Given the description of an element on the screen output the (x, y) to click on. 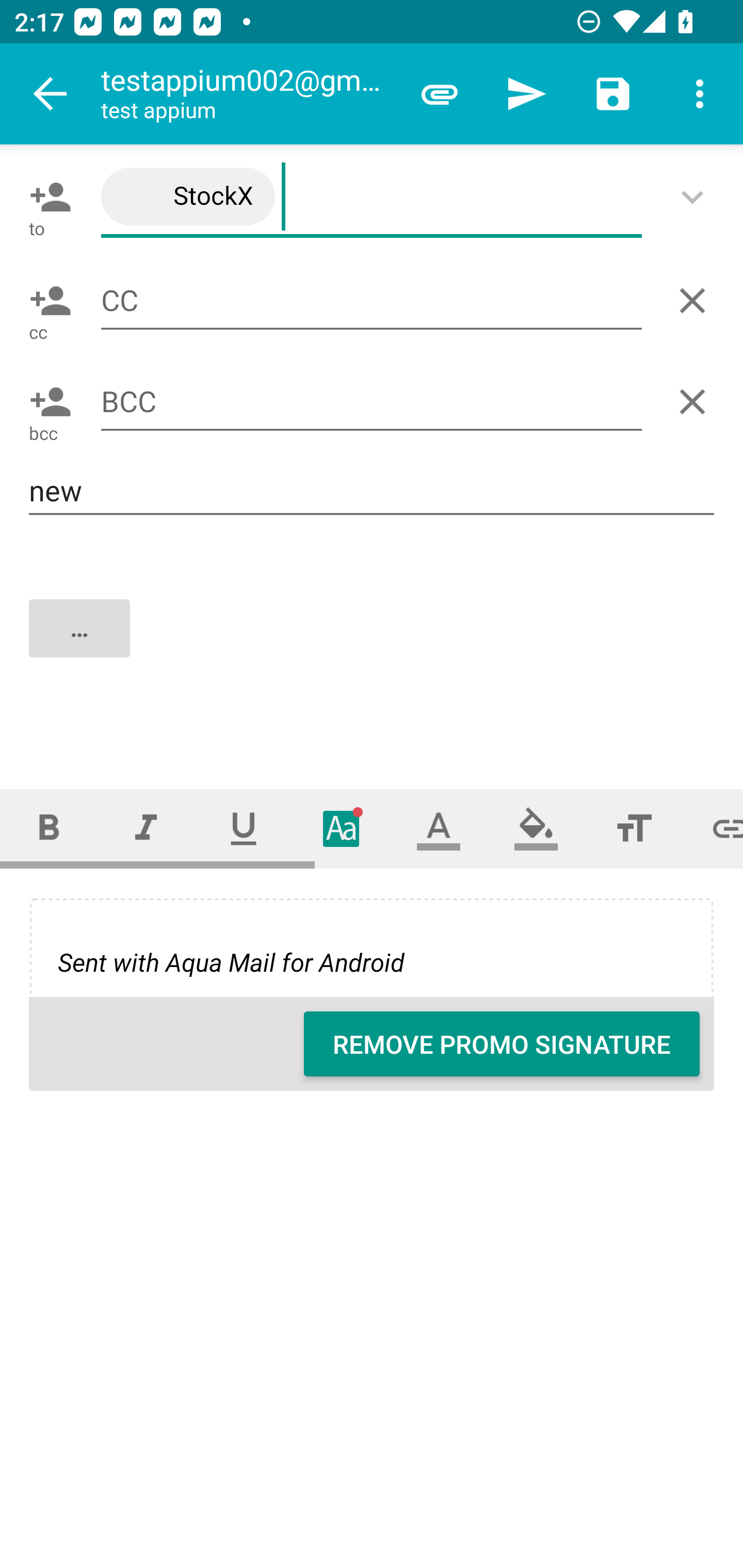
Navigate up (50, 93)
testappium002@gmail.com test appium (248, 93)
Attach (439, 93)
Send (525, 93)
Save (612, 93)
More options (699, 93)
StockX <noreply@stockx.com>,  (371, 197)
Pick contact: To (46, 196)
Show/Add CC/BCC (696, 196)
Pick contact: CC (46, 300)
Delete (696, 300)
CC (371, 300)
Pick contact: BCC (46, 401)
Delete (696, 401)
BCC (371, 402)
new (371, 490)

…
 (372, 645)
Bold (48, 828)
Italic (145, 828)
Underline (243, 828)
Typeface (font) (341, 828)
Text color (438, 828)
Fill color (536, 828)
Font size (633, 828)
REMOVE PROMO SIGNATURE (501, 1044)
